Given the description of an element on the screen output the (x, y) to click on. 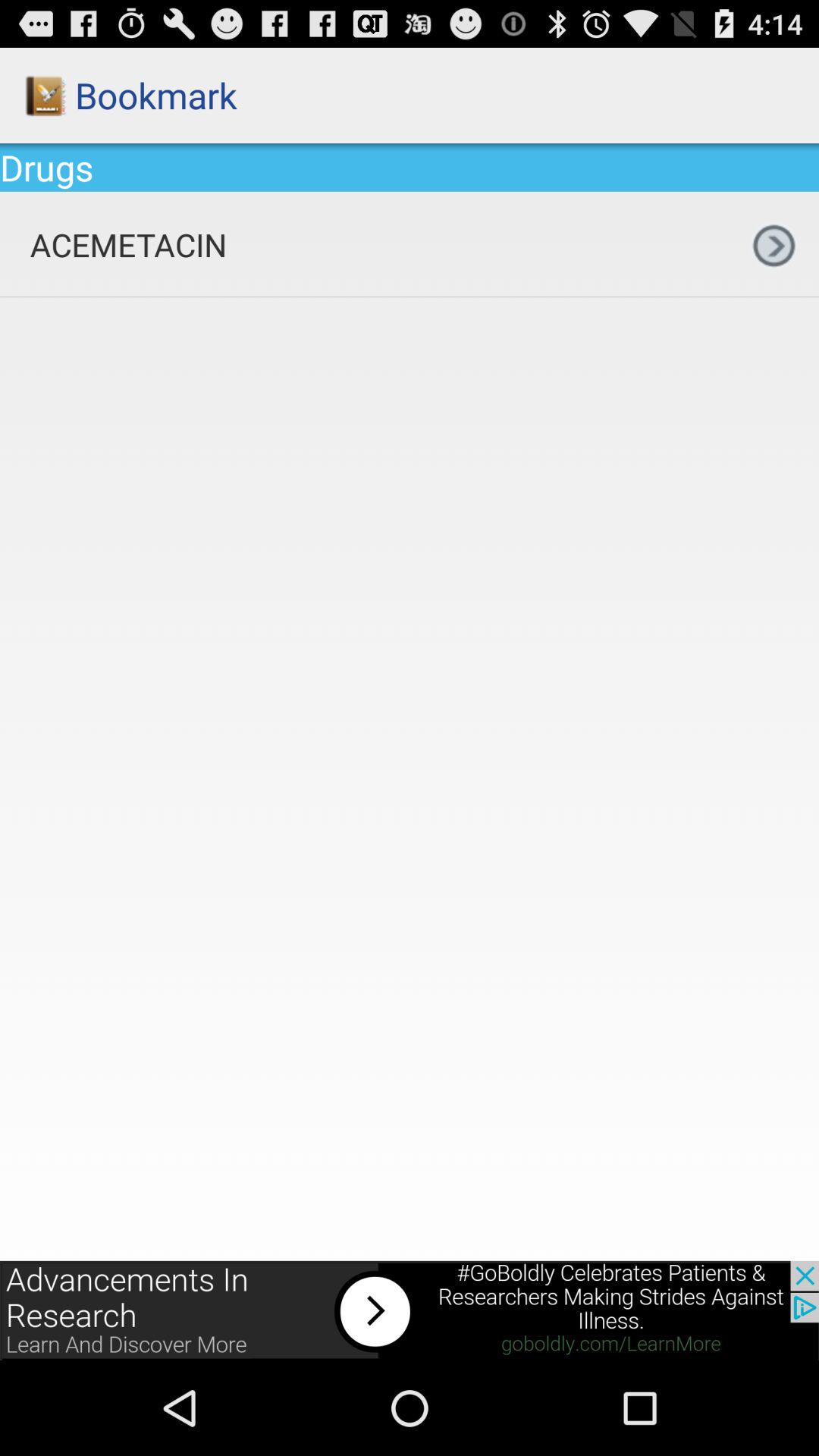
announcement (409, 1310)
